Given the description of an element on the screen output the (x, y) to click on. 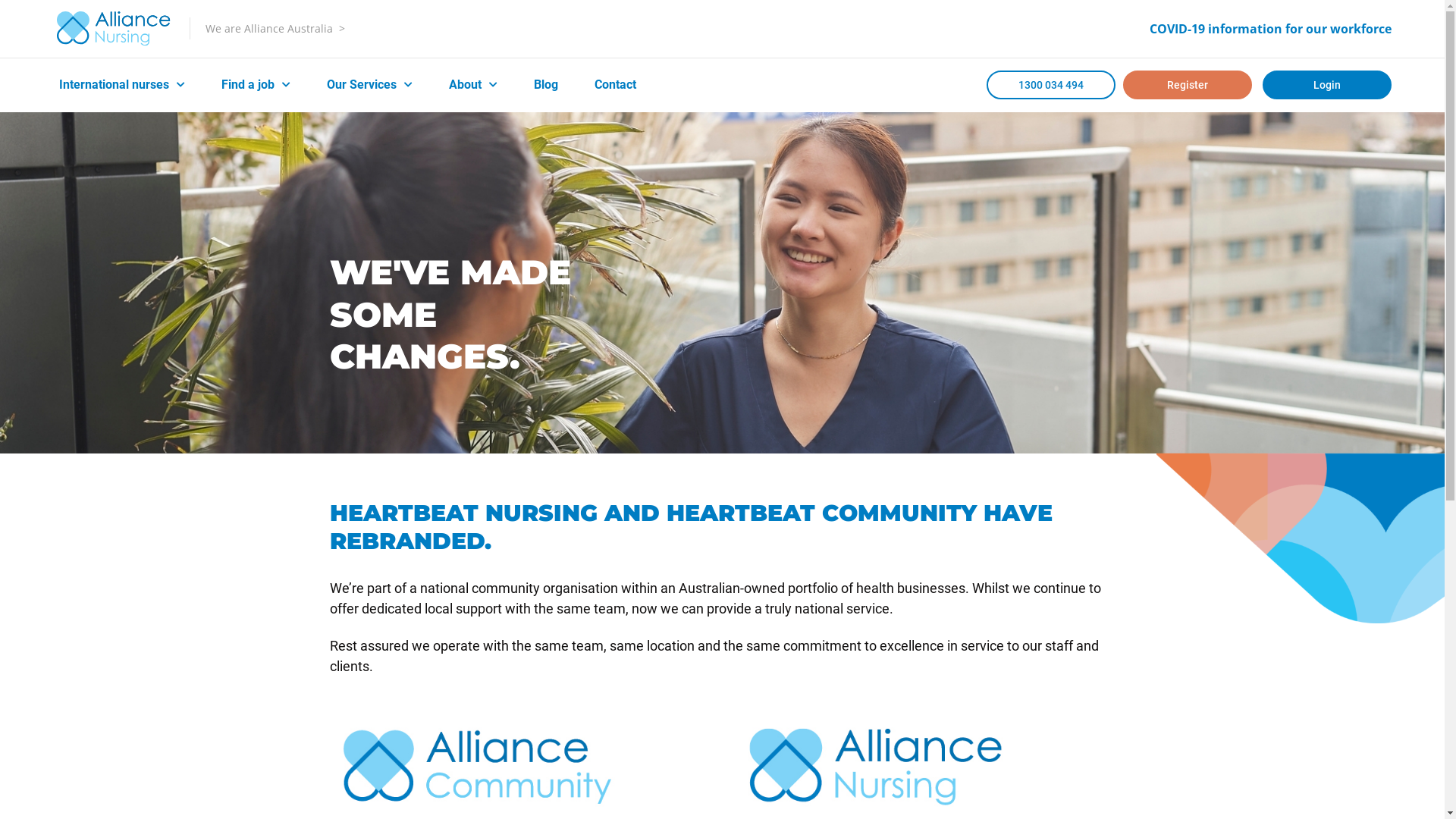
Find a job Element type: text (255, 84)
Contact Element type: text (615, 84)
Login Element type: text (1326, 84)
COVID-19 information for our workforce Element type: text (1270, 28)
Register Element type: text (1187, 84)
About Element type: text (472, 84)
We are Alliance Australia  > Element type: text (274, 28)
Our Services Element type: text (369, 84)
Blog Element type: text (545, 84)
International nurses Element type: text (122, 84)
1300 034 494 Element type: text (1050, 84)
